Given the description of an element on the screen output the (x, y) to click on. 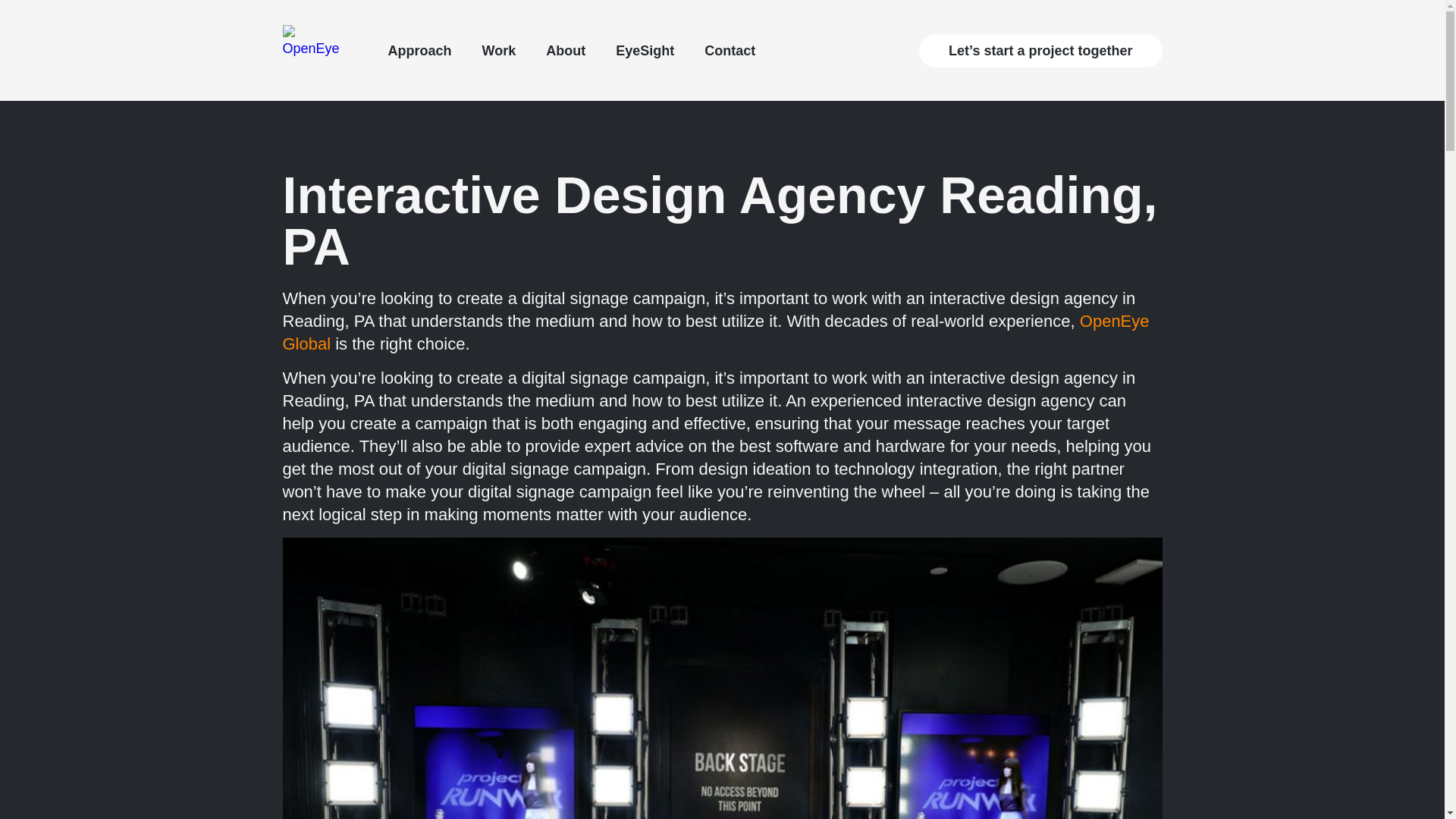
Work (498, 50)
EyeSight (644, 50)
Contact (729, 50)
Approach (419, 50)
OpenEye Global (715, 332)
About (565, 50)
